Given the description of an element on the screen output the (x, y) to click on. 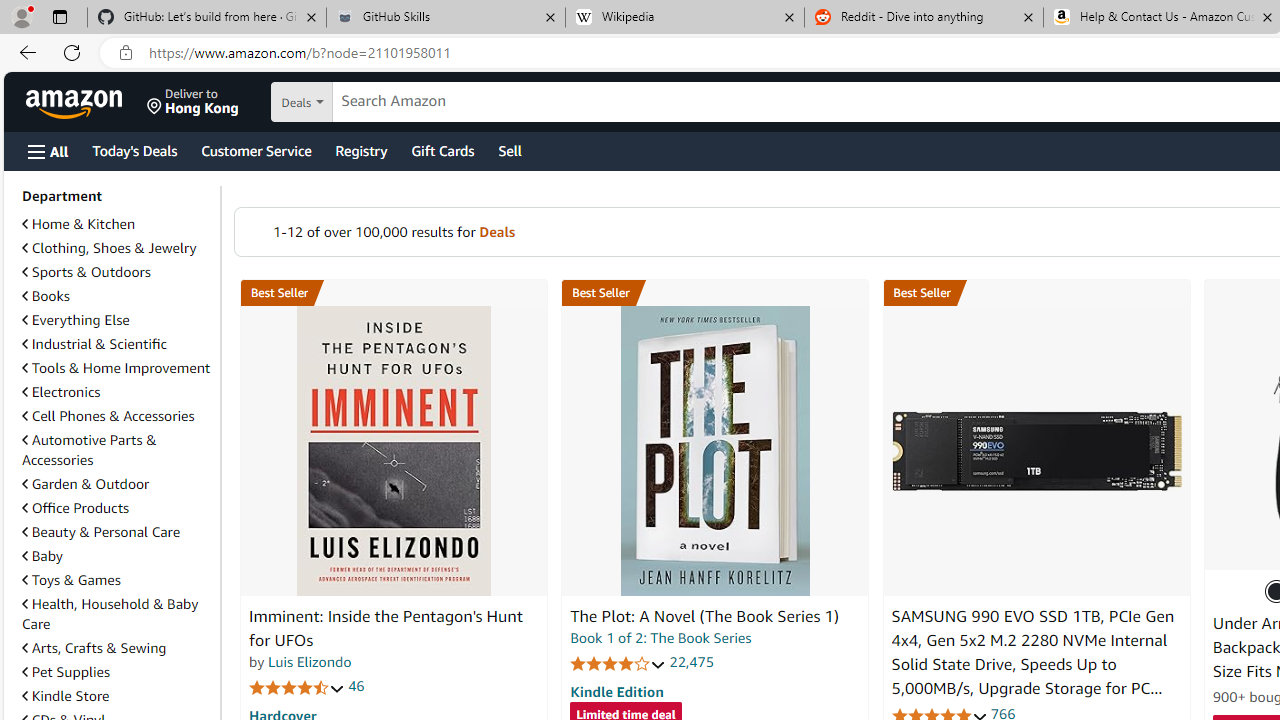
Arts, Crafts & Sewing (93, 647)
Luis Elizondo (309, 662)
The Plot: A Novel (The Book Series 1) (703, 616)
Sports & Outdoors (117, 272)
GitHub Skills (445, 17)
Search in (371, 102)
Registry (360, 150)
Industrial & Scientific (94, 343)
Books (117, 295)
Baby (117, 555)
Kindle Store (65, 695)
Tools & Home Improvement (116, 368)
Everything Else (117, 319)
